Given the description of an element on the screen output the (x, y) to click on. 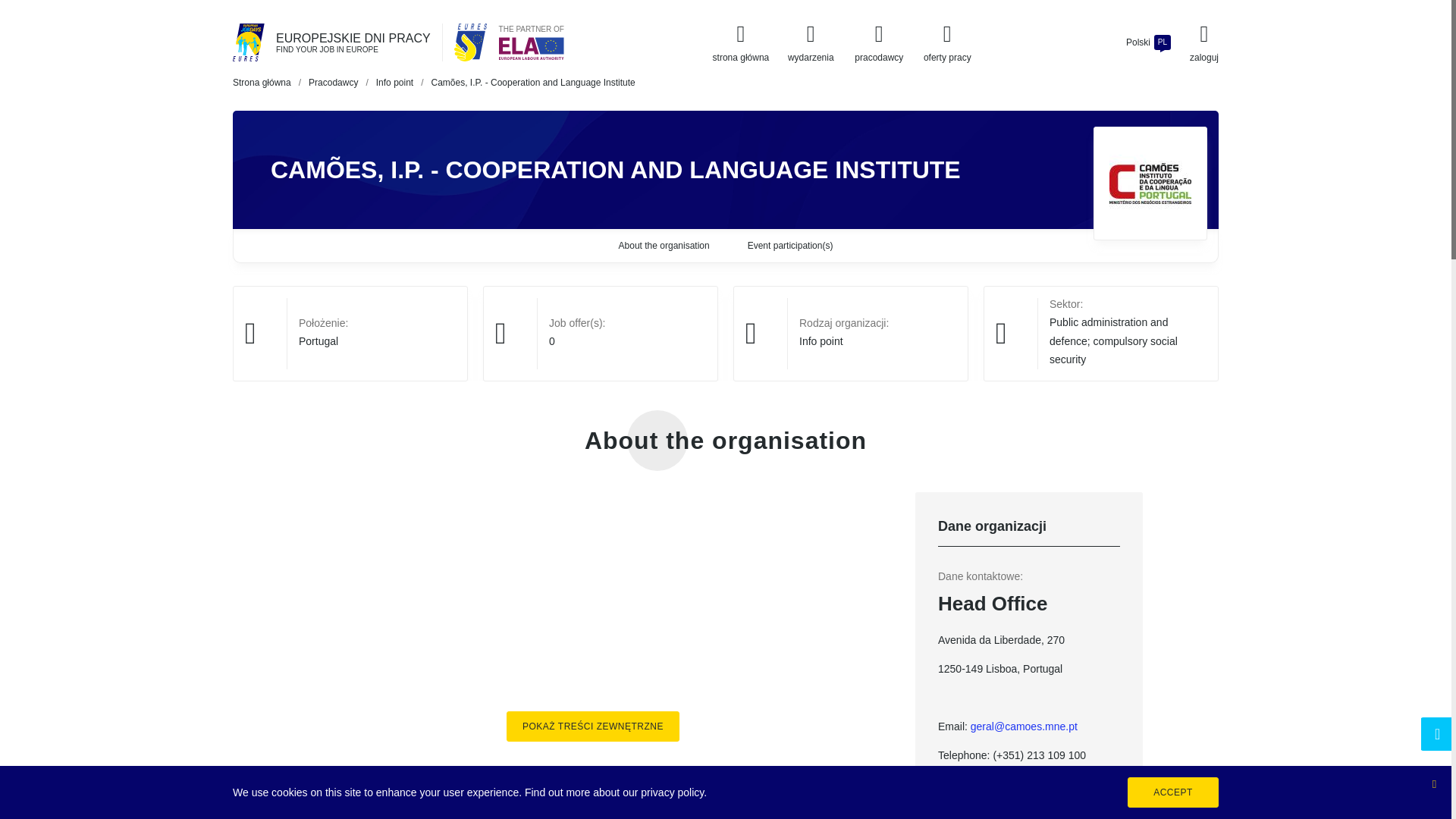
Info point (394, 81)
Pracodawcy (333, 81)
Zamknij (1433, 782)
pracodawcy (878, 42)
About the organisation (664, 245)
Skip to content (13, 7)
wydarzenia (810, 42)
European Labour Authority (531, 47)
Portugal (1148, 42)
oferty pracy (317, 340)
